Given the description of an element on the screen output the (x, y) to click on. 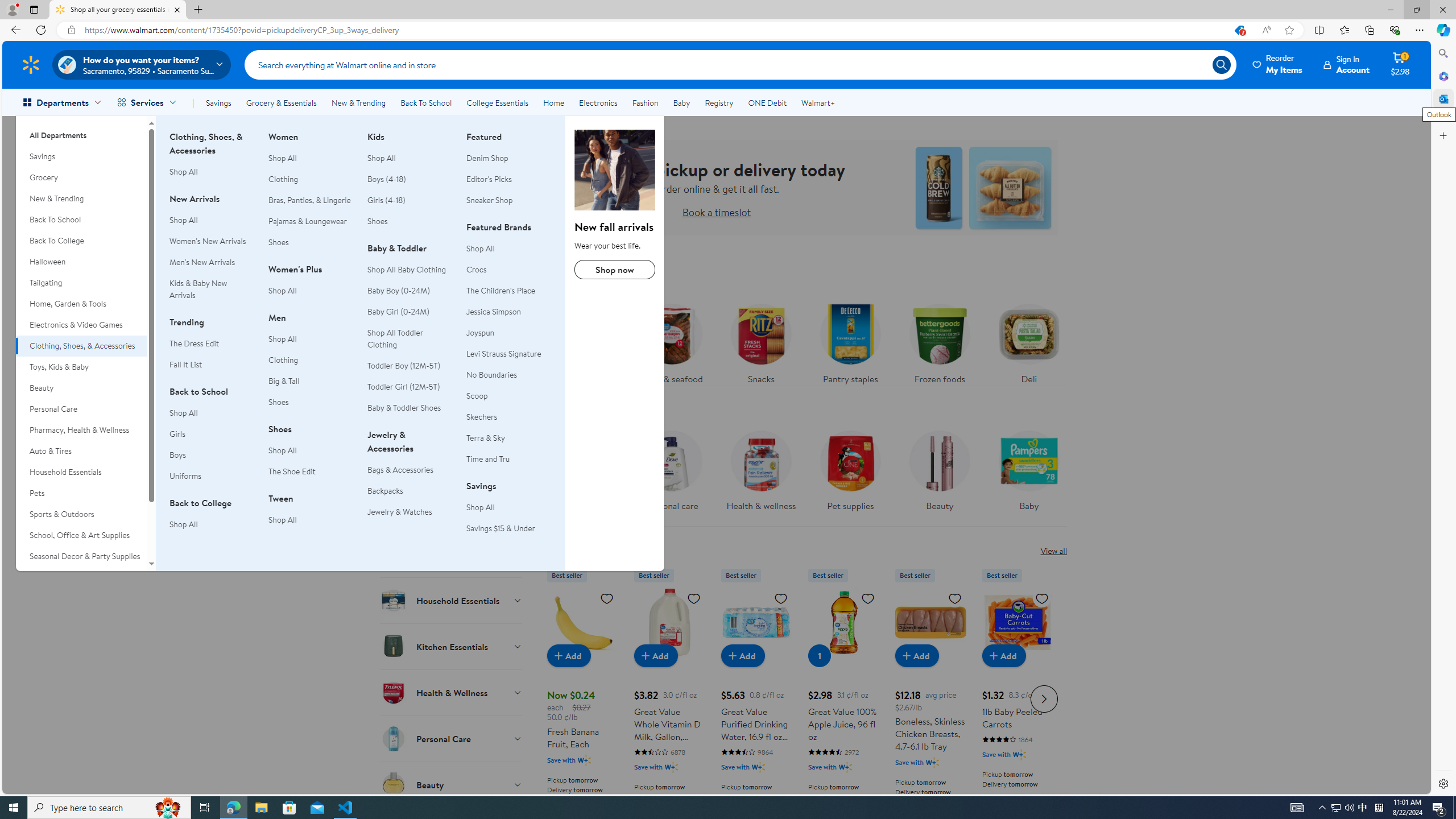
Tailgating (81, 282)
Household essentials (582, 473)
New & Trending (81, 198)
Health & Wellness (451, 692)
Sports & Outdoors (81, 513)
Tailgating (81, 282)
Baby Boy (0-24M) (397, 290)
Frozen foods (938, 340)
Walmart+ (817, 102)
